Given the description of an element on the screen output the (x, y) to click on. 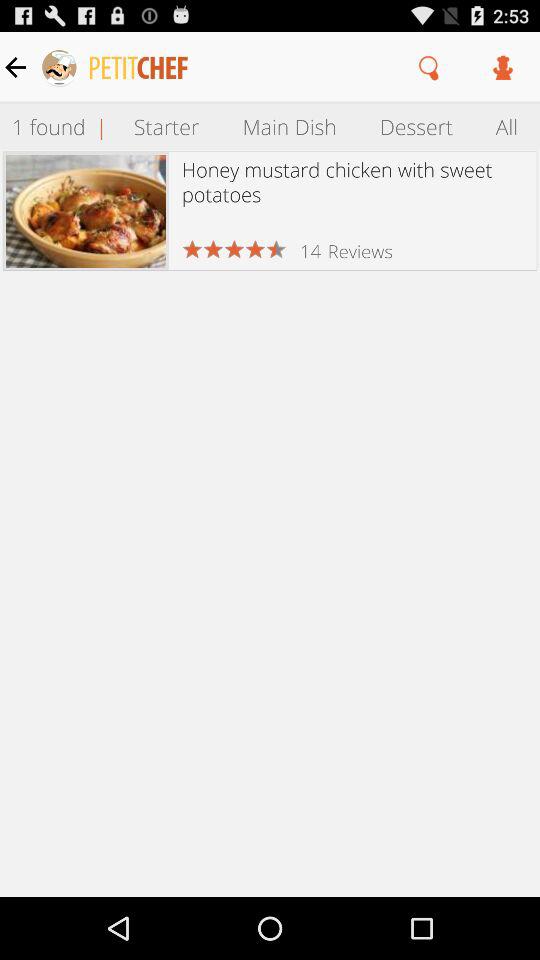
press item next to dessert (507, 126)
